Given the description of an element on the screen output the (x, y) to click on. 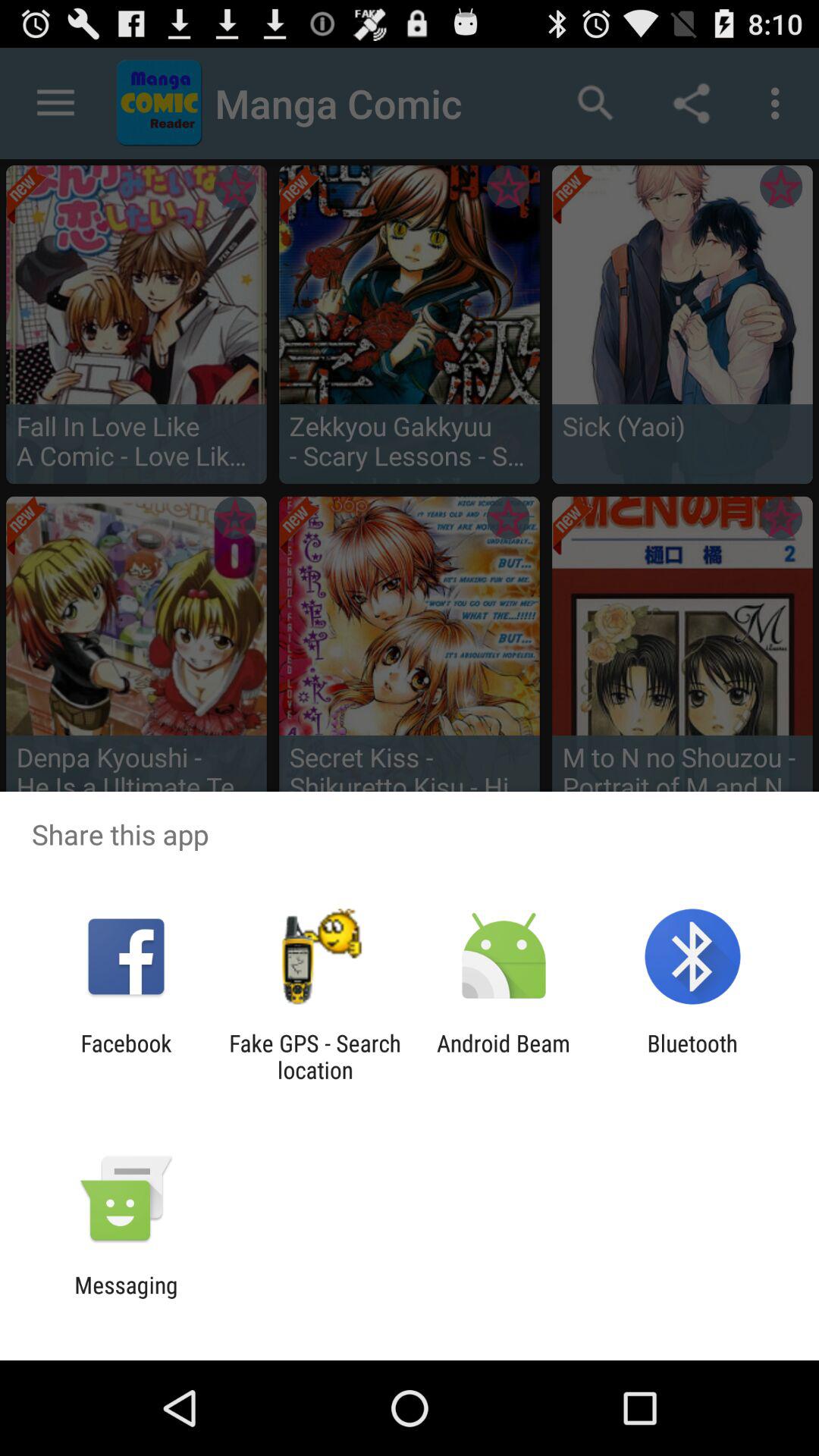
scroll to facebook icon (125, 1056)
